Given the description of an element on the screen output the (x, y) to click on. 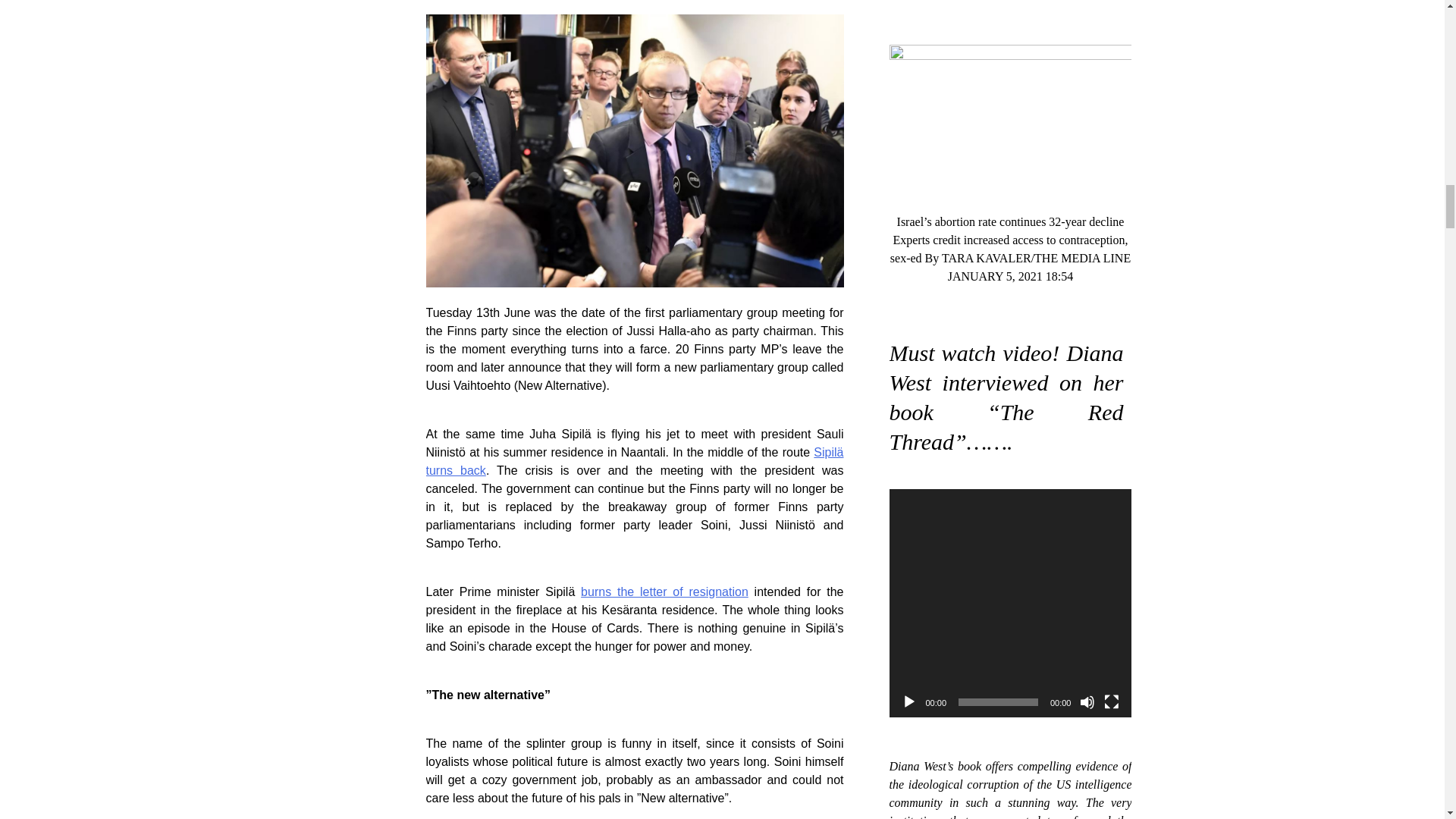
Mute (1087, 702)
Play (908, 702)
burns the letter of resignation (664, 591)
Fullscreen (1111, 702)
